Given the description of an element on the screen output the (x, y) to click on. 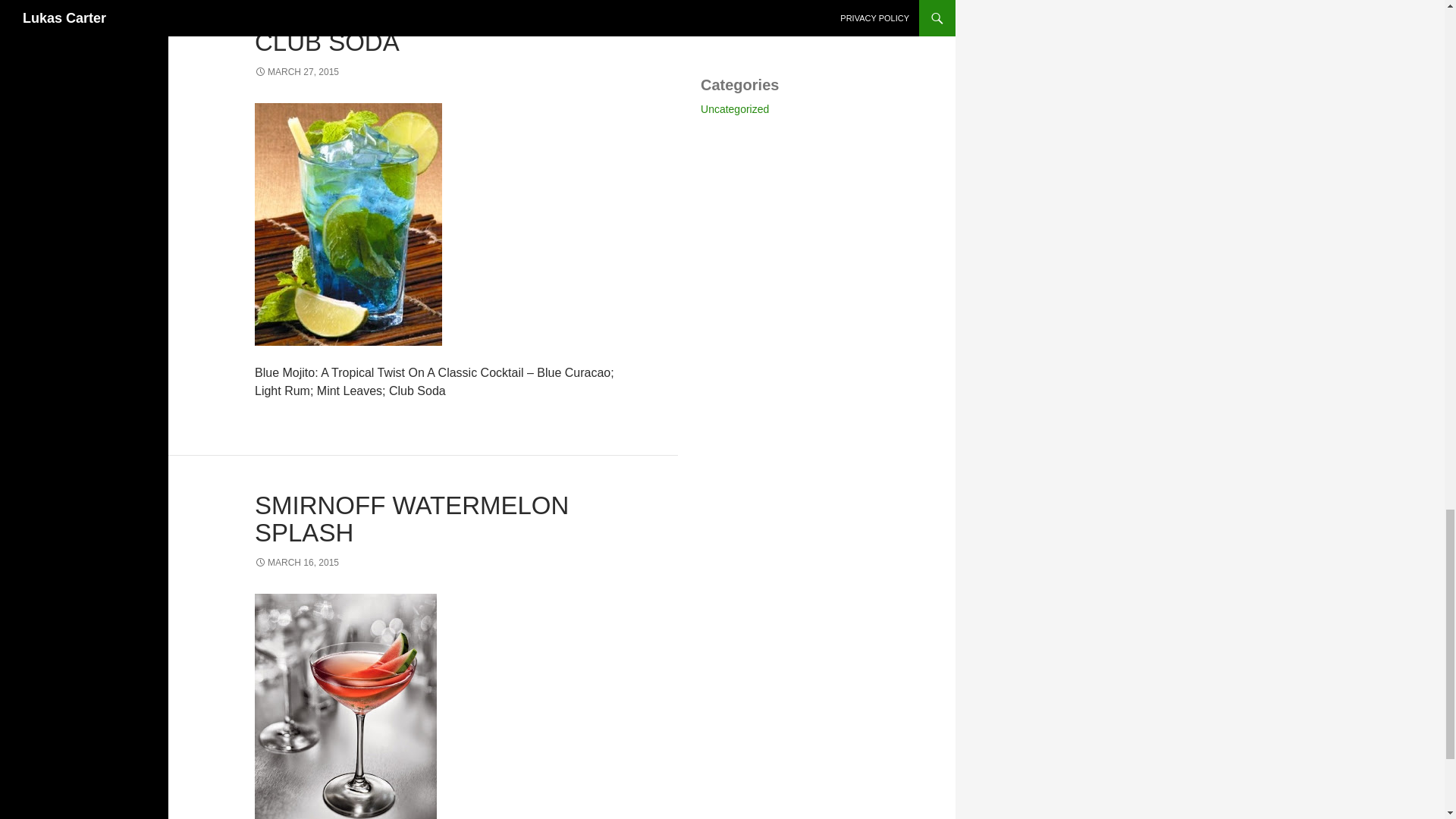
MARCH 27, 2015 (296, 71)
MARCH 16, 2015 (296, 562)
SMIRNOFF WATERMELON SPLASH (411, 519)
